Given the description of an element on the screen output the (x, y) to click on. 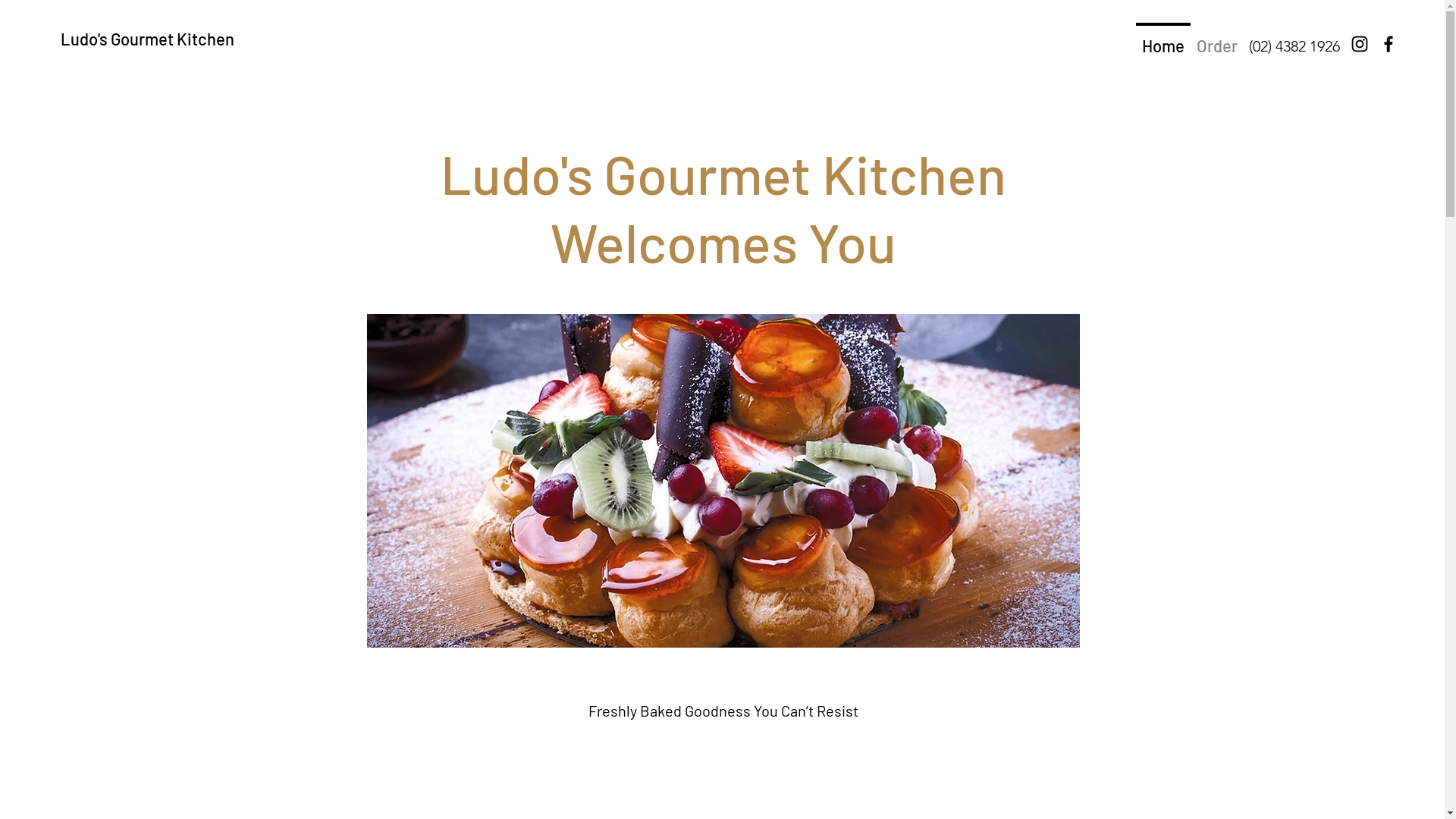
Ludo's Gourmet Kitchen Element type: text (147, 38)
Order Element type: text (1216, 38)
Home Element type: text (1162, 38)
